Given the description of an element on the screen output the (x, y) to click on. 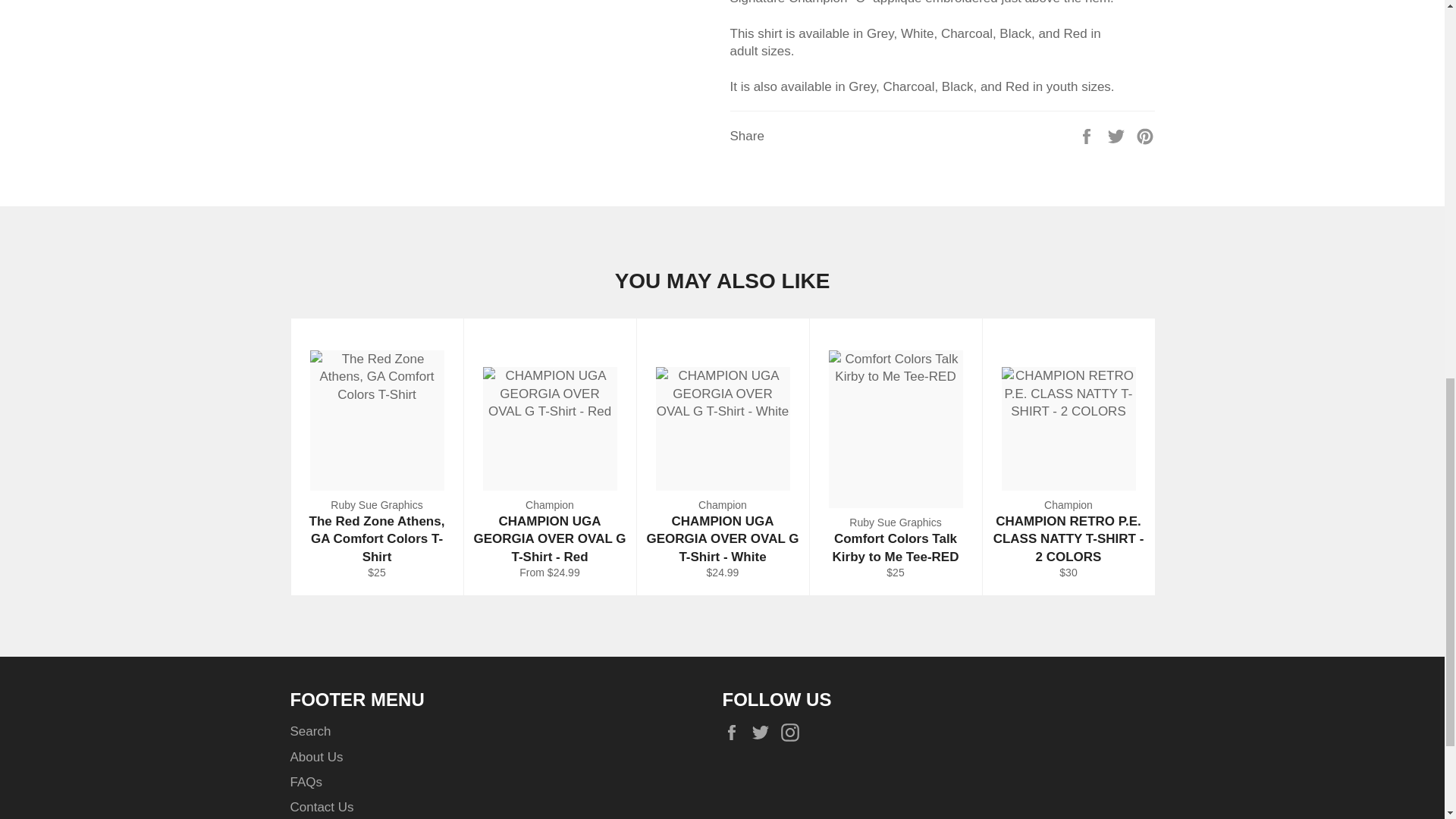
Tweet on Twitter (1117, 134)
The Red Zone- Athens, GA on Instagram (793, 732)
Share on Facebook (1088, 134)
Pin on Pinterest (1144, 134)
The Red Zone- Athens, GA on Twitter (764, 732)
The Red Zone- Athens, GA on Facebook (735, 732)
